Given the description of an element on the screen output the (x, y) to click on. 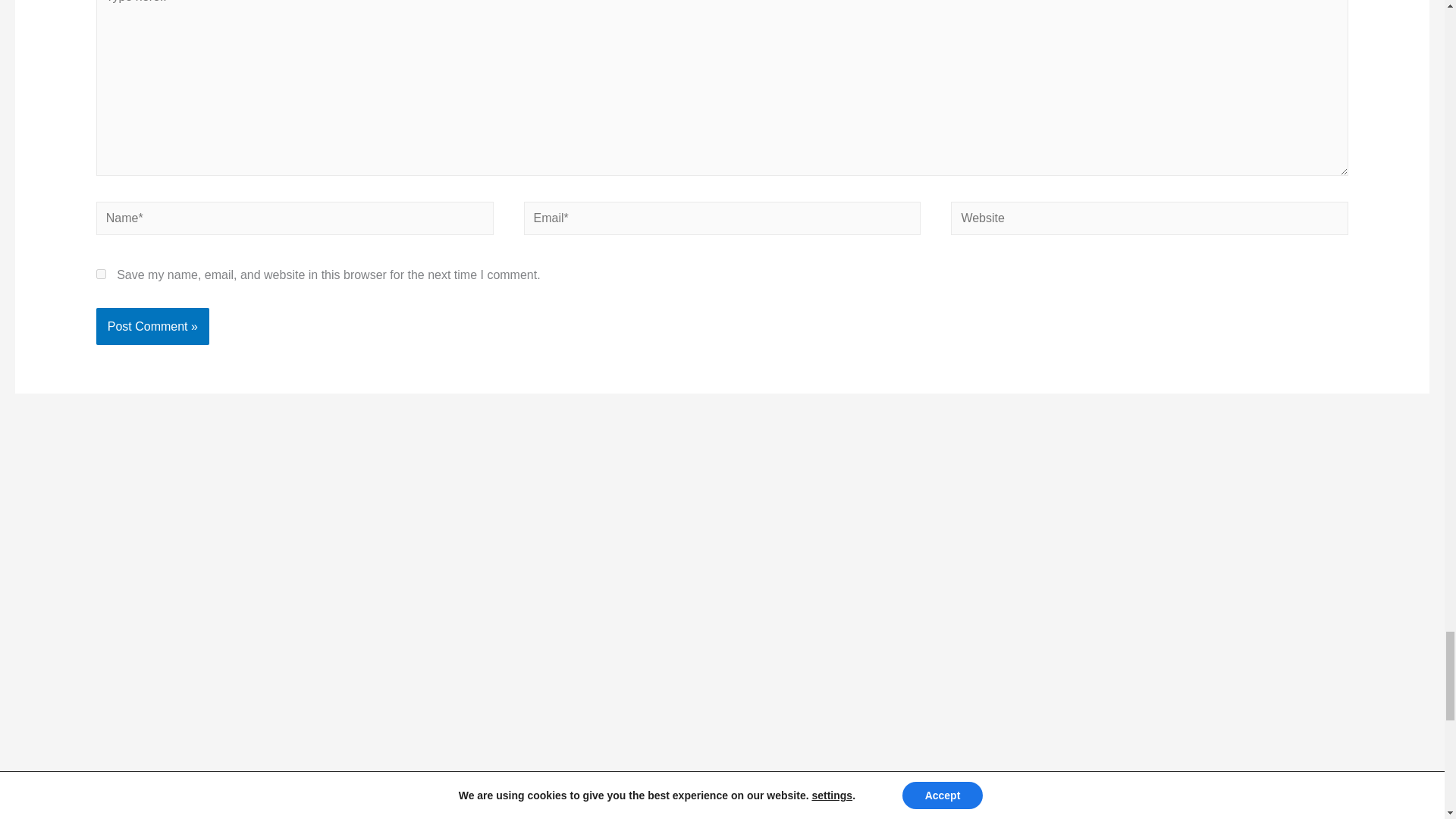
yes (101, 274)
